Given the description of an element on the screen output the (x, y) to click on. 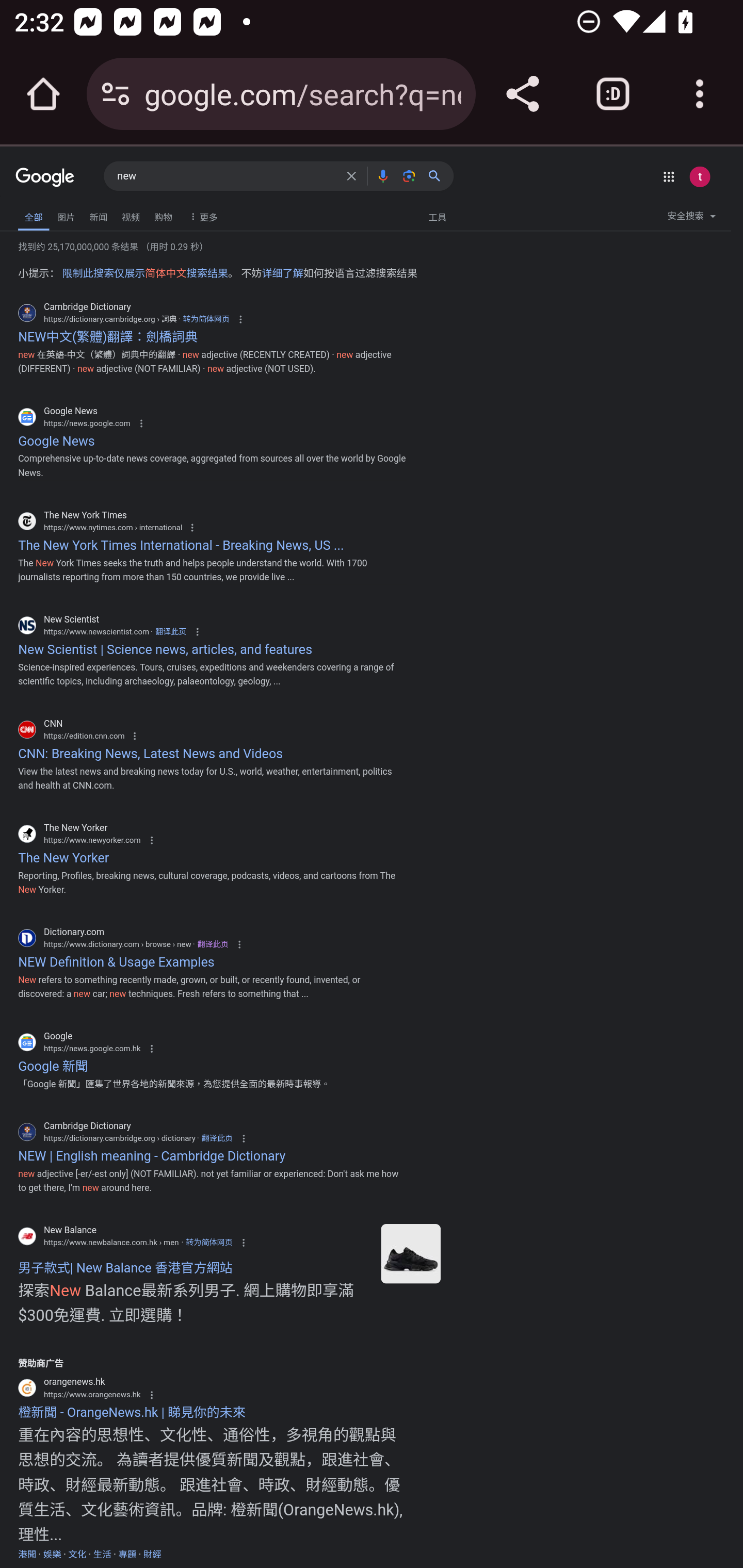
Open the home page (43, 93)
Connection is secure (115, 93)
Share (522, 93)
Switch or close tabs (612, 93)
Customize and control Google Chrome (699, 93)
清除 (351, 175)
按语音搜索 (382, 175)
按图搜索 (408, 175)
搜索 (438, 175)
Google 应用 (668, 176)
Google 账号： test appium (testappium002@gmail.com) (699, 176)
Google (45, 178)
new (225, 176)
无障碍功能反馈 (41, 212)
图片 (65, 215)
新闻 (98, 215)
视频 (131, 215)
购物 (163, 215)
更多 (201, 215)
安全搜索 (691, 218)
工具 (437, 215)
限制此搜索仅展示简体中文搜索结果 限制此搜索仅展示 简体中文 搜索结果 (144, 272)
详细了解 (281, 272)
转为简体网页 (205, 319)
翻译此页 (170, 631)
翻译此页 (212, 943)
翻译此页 (216, 1138)
men (410, 1253)
转为简体网页 (209, 1241)
为什么会显示该广告？ (150, 1395)
港聞 (26, 1554)
娛樂 (51, 1554)
文化 (76, 1554)
生活 (102, 1554)
專題 (126, 1554)
財經 (151, 1554)
